Given the description of an element on the screen output the (x, y) to click on. 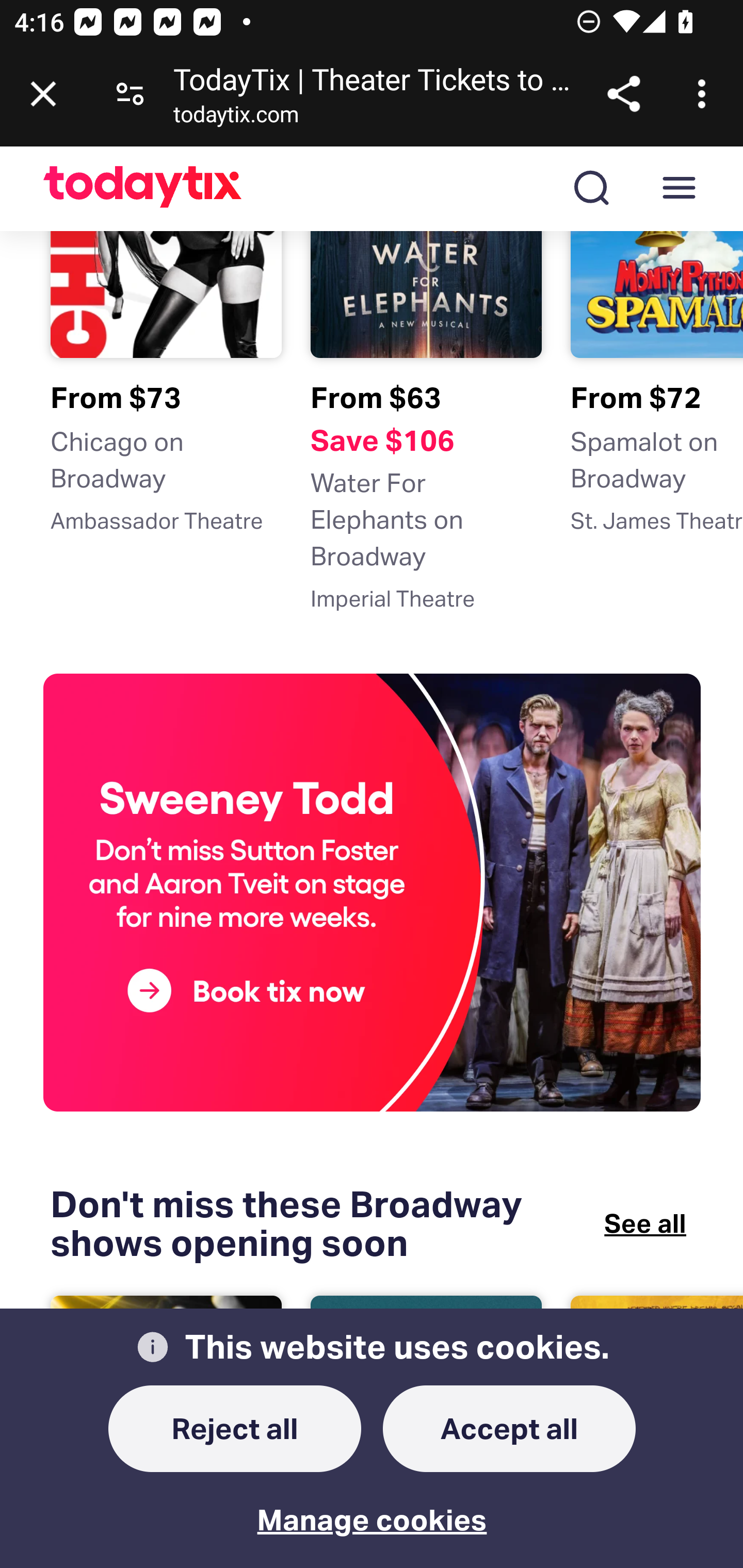
Close tab (43, 93)
Share link address (623, 93)
Customize and control Google Chrome (705, 93)
Connection is secure (129, 93)
todaytix.com (236, 117)
TodayTix Logo (143, 188)
Product Banner (372, 896)
See all (645, 1224)
Reject all (235, 1428)
Accept all (509, 1428)
Manage cookies (372, 1505)
